Given the description of an element on the screen output the (x, y) to click on. 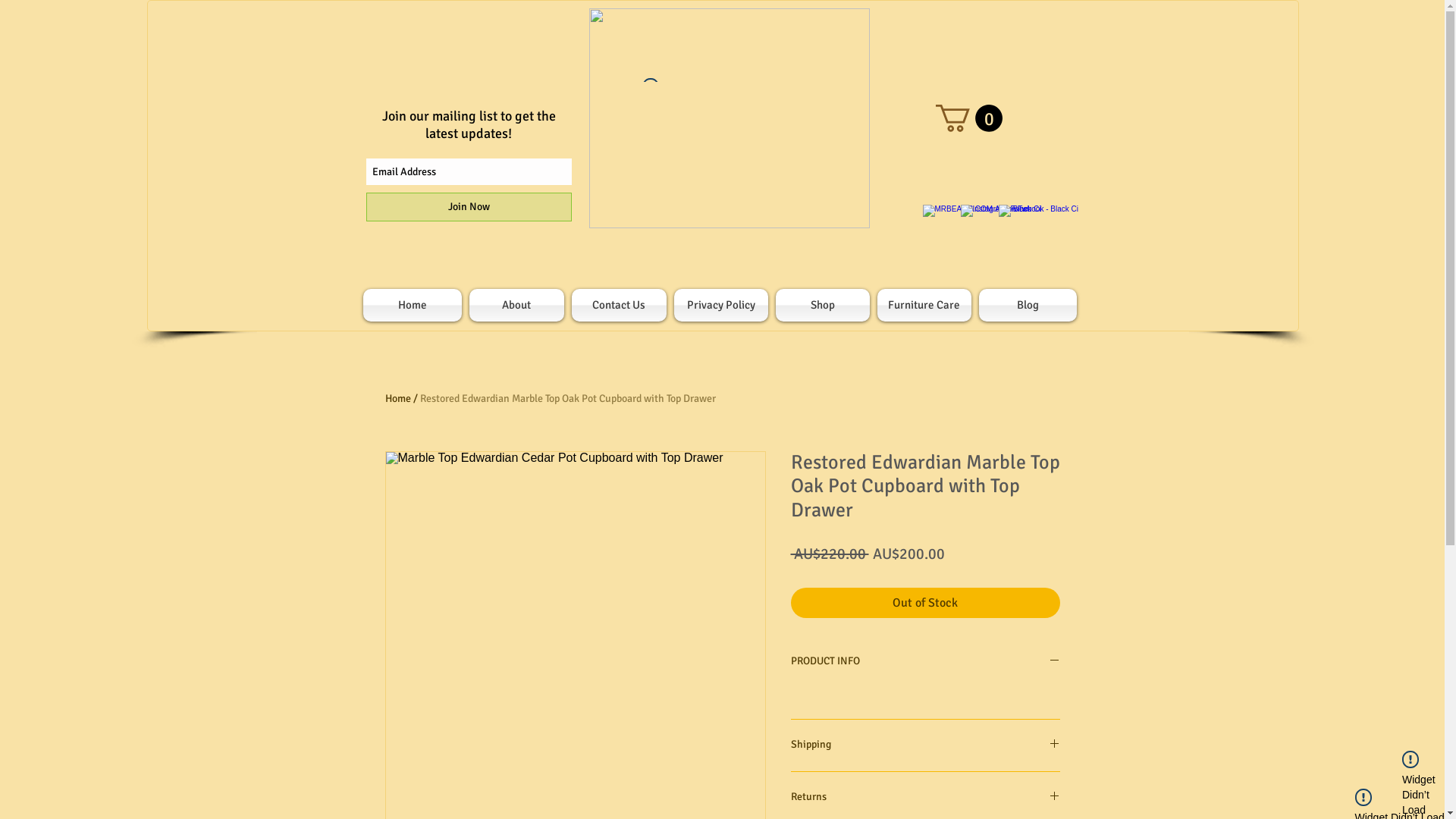
PRODUCT INFO Element type: text (924, 661)
Shop Element type: text (822, 304)
Join Now Element type: text (468, 206)
About Element type: text (516, 304)
Furniture Care Element type: text (924, 304)
Site Search Element type: hover (974, 264)
Home Element type: text (398, 398)
Shipping Element type: text (924, 745)
Privacy Policy Element type: text (720, 304)
Returns Element type: text (924, 797)
0 Element type: text (968, 117)
Home Element type: text (413, 304)
Blog Element type: text (1025, 304)
logo.png Element type: hover (728, 118)
Out of Stock Element type: text (924, 602)
Contact Us Element type: text (618, 304)
